Given the description of an element on the screen output the (x, y) to click on. 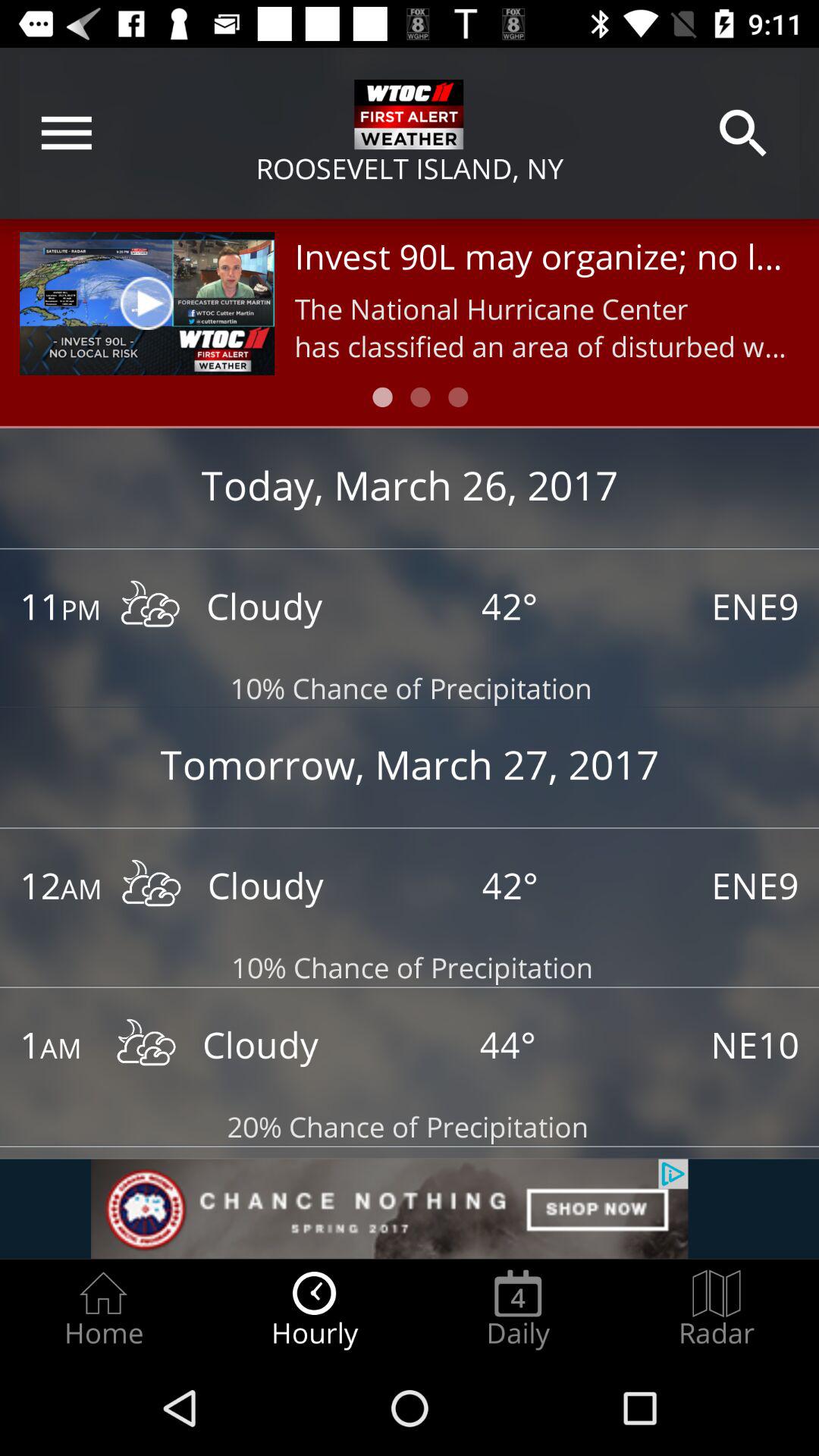
turn on the icon to the left of the radar item (518, 1309)
